Given the description of an element on the screen output the (x, y) to click on. 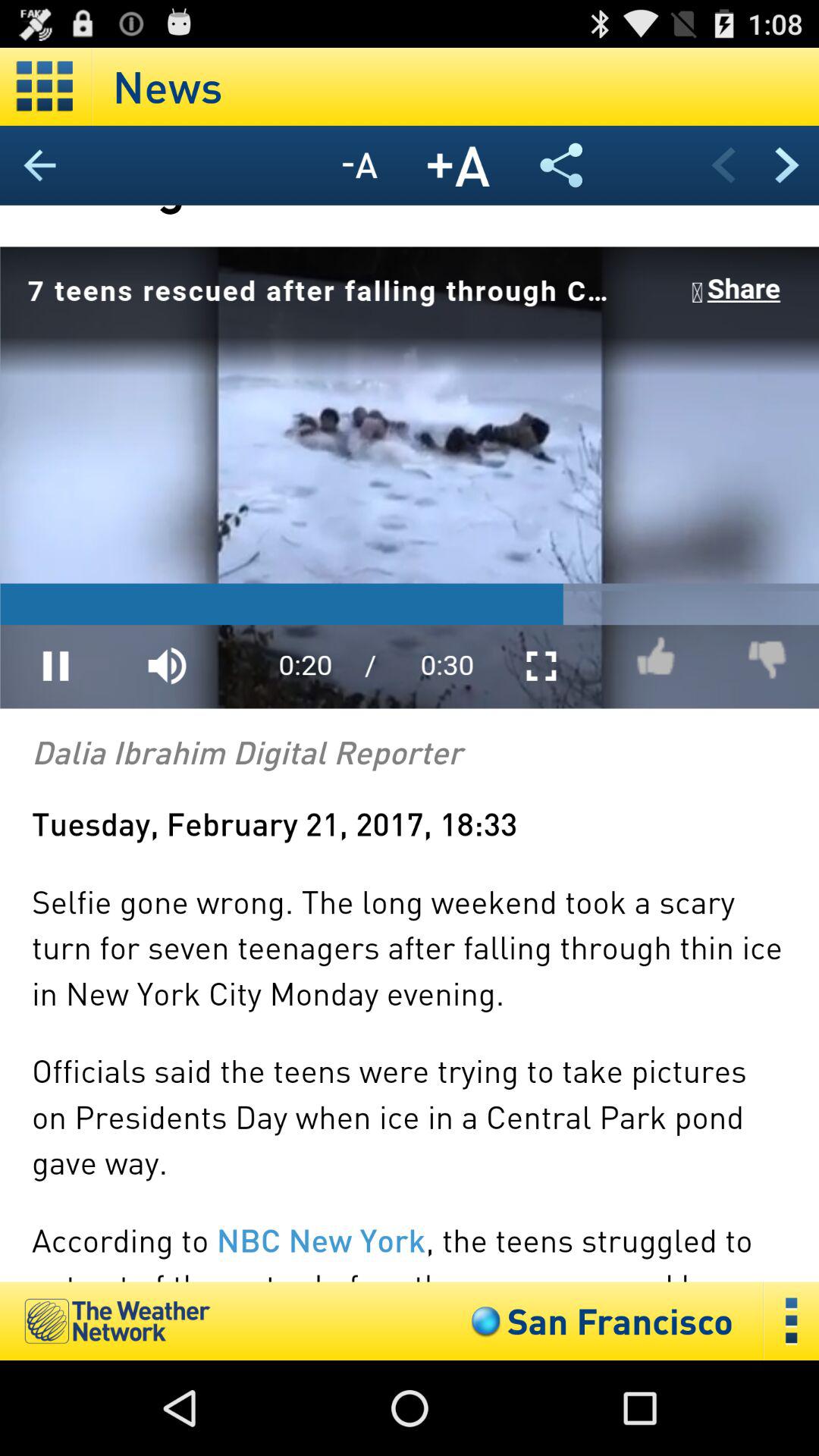
decrease font size (359, 165)
